Given the description of an element on the screen output the (x, y) to click on. 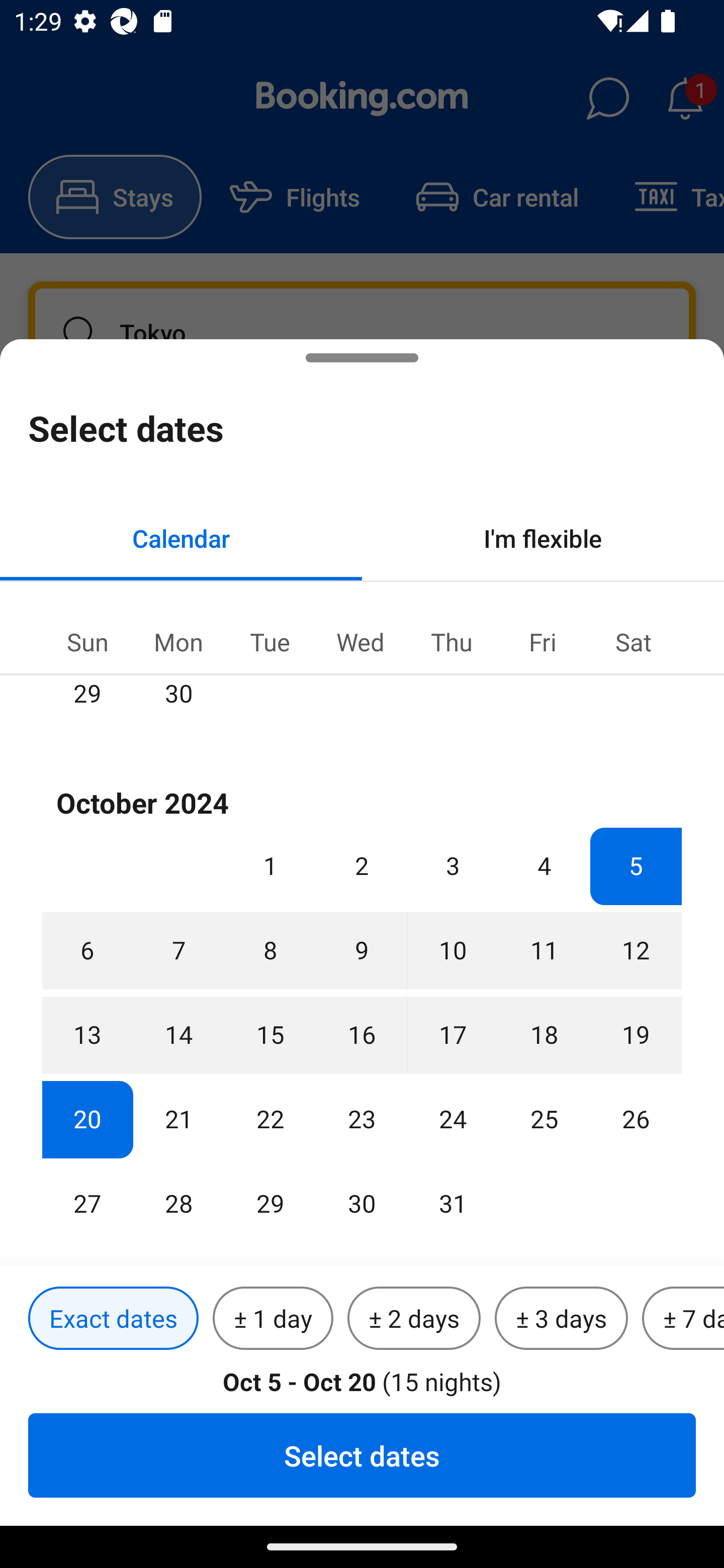
I'm flexible (543, 537)
Exact dates (113, 1318)
± 1 day (272, 1318)
± 2 days (413, 1318)
± 3 days (560, 1318)
± 7 days (683, 1318)
Select dates (361, 1454)
